Given the description of an element on the screen output the (x, y) to click on. 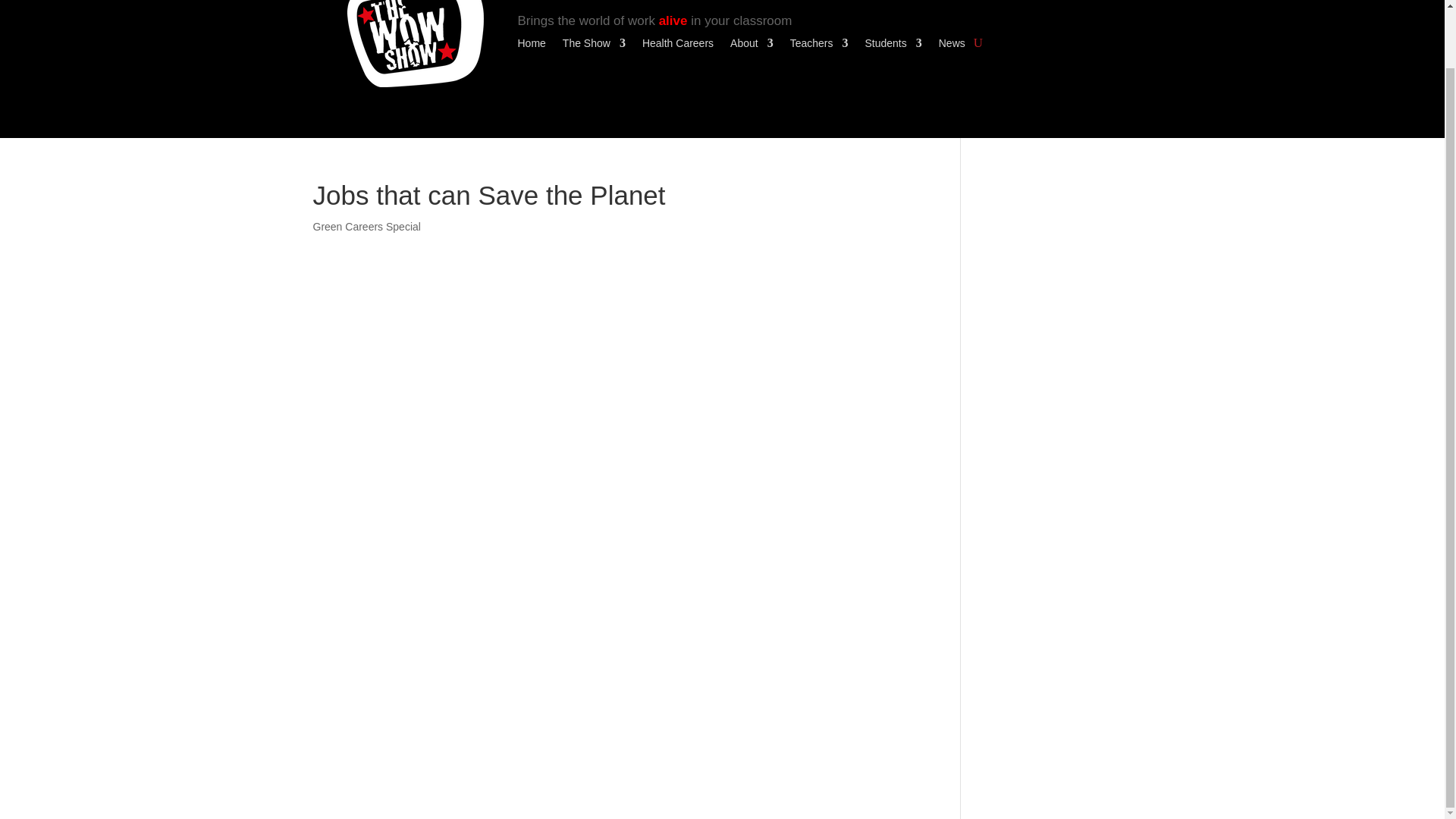
About (751, 45)
News (952, 45)
Teachers (819, 45)
Students (892, 45)
The Show (594, 45)
Home (530, 45)
Health Careers (677, 45)
Green Careers Special (366, 226)
